Given the description of an element on the screen output the (x, y) to click on. 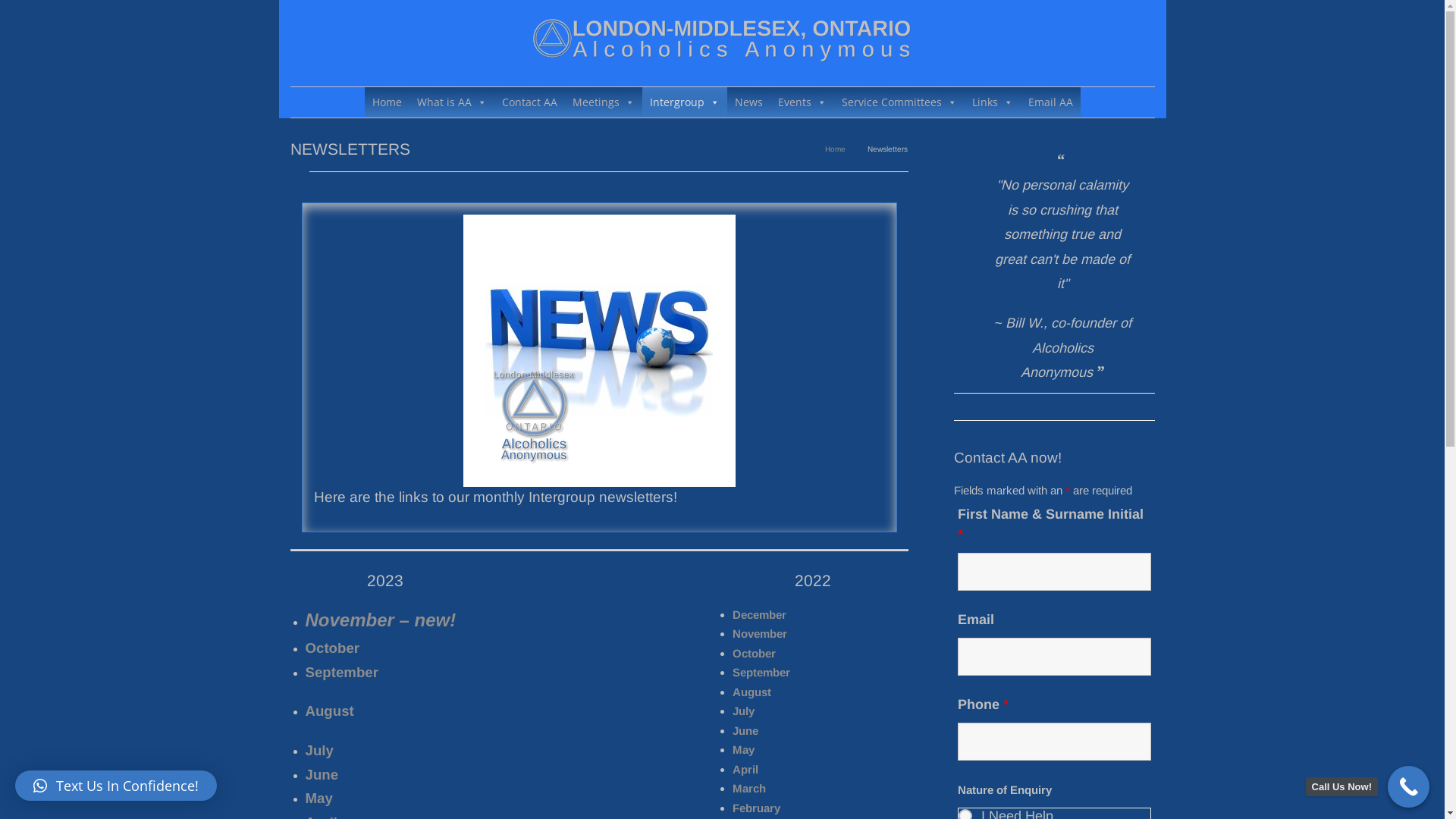
June Element type: text (745, 730)
News Element type: text (747, 102)
September Element type: text (761, 671)
August Element type: text (328, 710)
Events Element type: text (802, 102)
August Element type: text (751, 691)
July Element type: text (318, 750)
November Element type: text (759, 633)
December Element type: text (759, 614)
October Element type: text (753, 652)
February Element type: text (756, 807)
What is AA Element type: text (451, 102)
June Element type: text (321, 774)
Contact AA Element type: text (529, 102)
Meetings Element type: text (602, 102)
October Element type: text (331, 647)
April Element type: text (745, 768)
March Element type: text (748, 787)
Email AA Element type: text (1050, 102)
Home Element type: text (386, 102)
May Element type: text (743, 749)
Call Us Now! Element type: text (1408, 786)
September Element type: text (340, 672)
Service Committees Element type: text (899, 102)
Links Element type: text (992, 102)
Text Us In Confidence! Element type: text (115, 785)
July Element type: text (743, 710)
Intergroup Element type: text (683, 102)
Home Element type: text (835, 148)
May Element type: text (318, 798)
Here are the links to our monthly Intergroup newsletters! Element type: hover (598, 350)
